Given the description of an element on the screen output the (x, y) to click on. 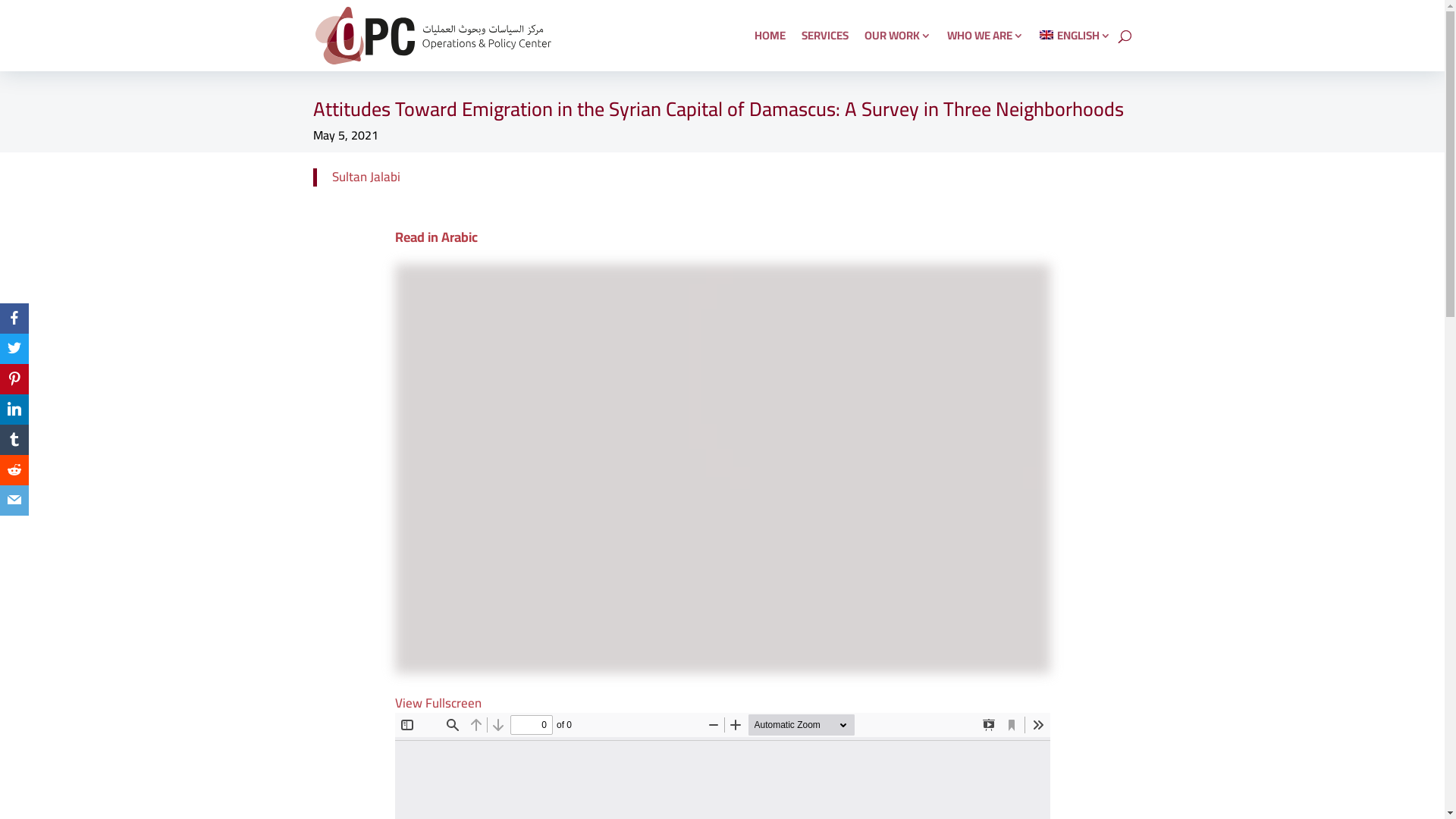
cover_damas_arabic Element type: hover (721, 468)
HOME Element type: text (769, 50)
Sultan Jalabi Element type: text (366, 176)
Read in Arabic Element type: text (435, 236)
WHO WE ARE Element type: text (985, 50)
View Fullscreen Element type: text (437, 702)
OUR WORK Element type: text (897, 50)
ENGLISH Element type: text (1074, 50)
SERVICES Element type: text (824, 50)
